Given the description of an element on the screen output the (x, y) to click on. 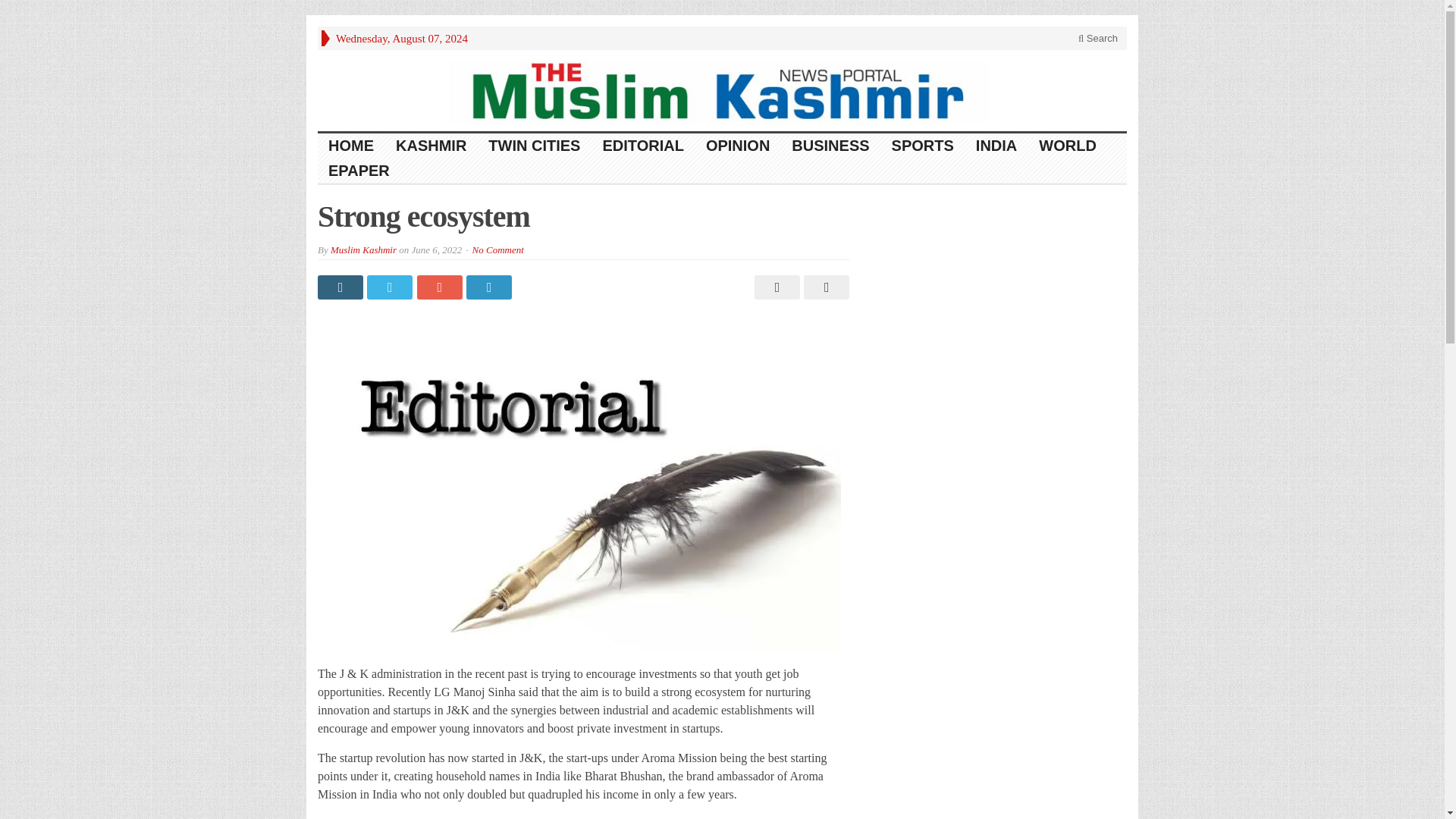
Muslim Kashmir (363, 249)
Send by Email (823, 287)
EDITORIAL (642, 145)
Search (1097, 37)
Share on LinkedIn (490, 287)
INDIA (996, 145)
Advertisement (999, 305)
KASHMIR (431, 145)
HOME (351, 145)
WORLD (1067, 145)
